Given the description of an element on the screen output the (x, y) to click on. 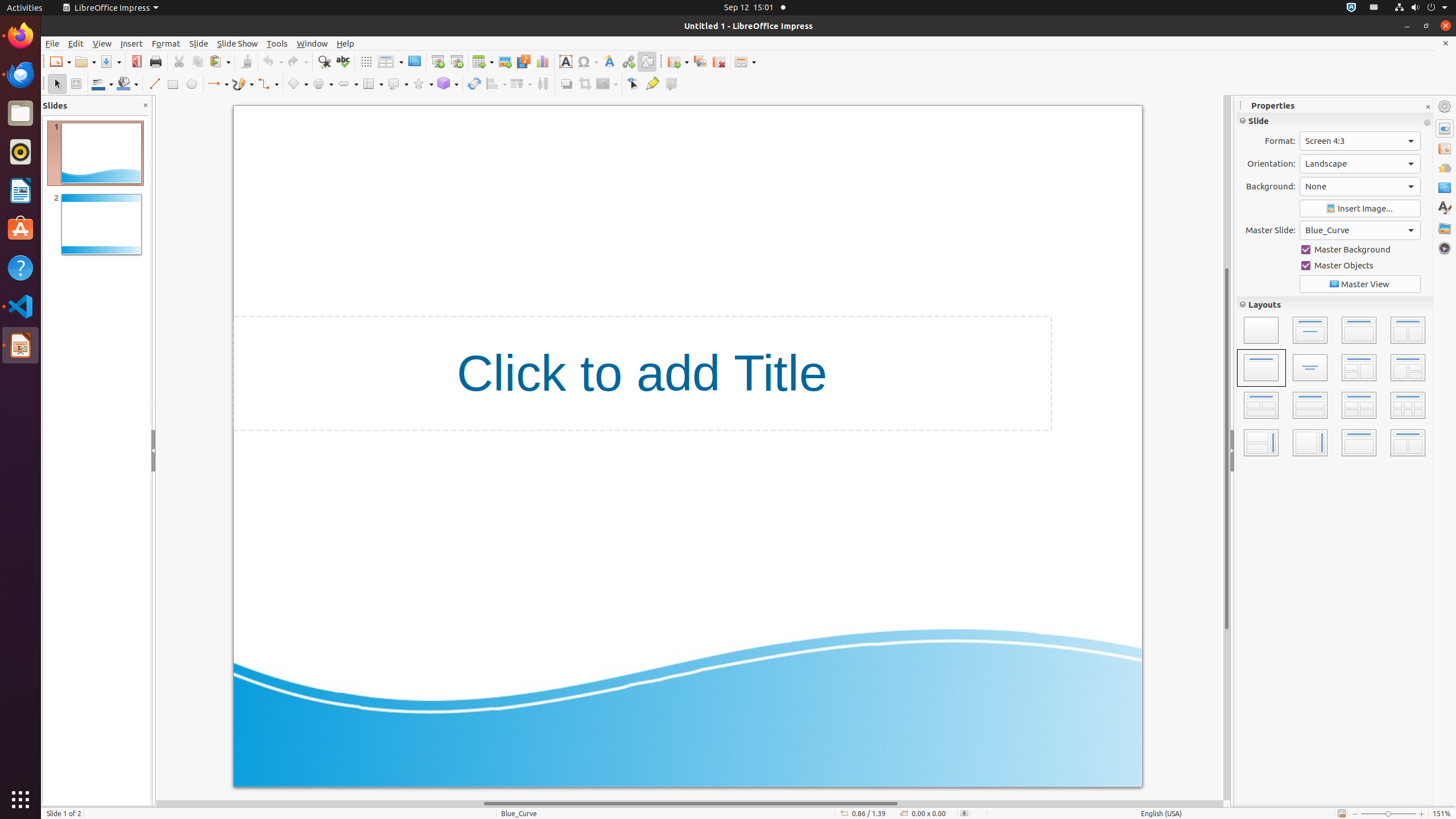
Rotate Element type: push-button (473, 83)
Fill Color Element type: push-button (126, 83)
Font Color Element type: push-button (1250, 192)
Duplicate Slide Element type: push-button (699, 61)
Line Spacing Element type: push-button (1251, 345)
